Given the description of an element on the screen output the (x, y) to click on. 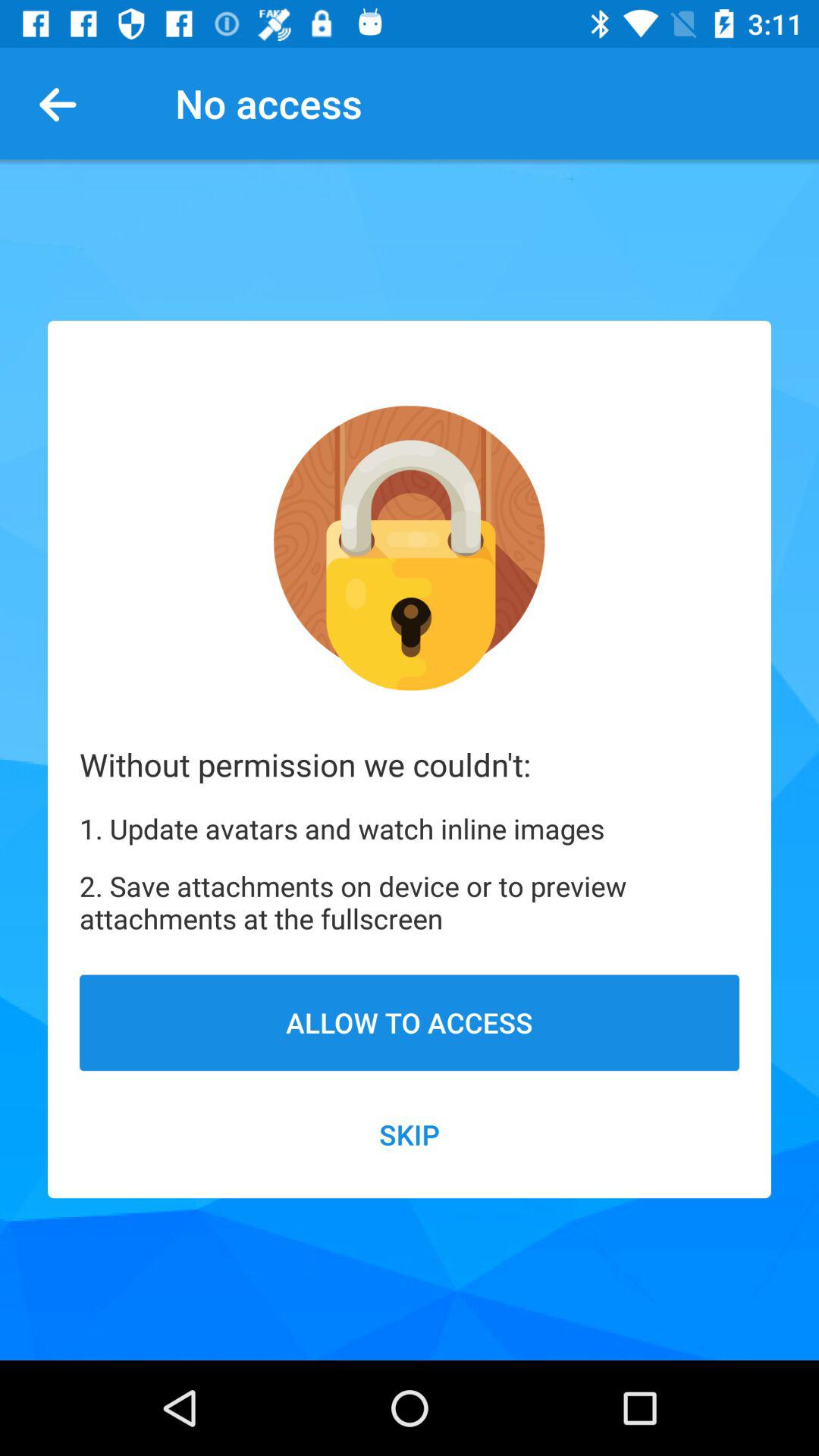
turn on app next to no access icon (63, 103)
